Given the description of an element on the screen output the (x, y) to click on. 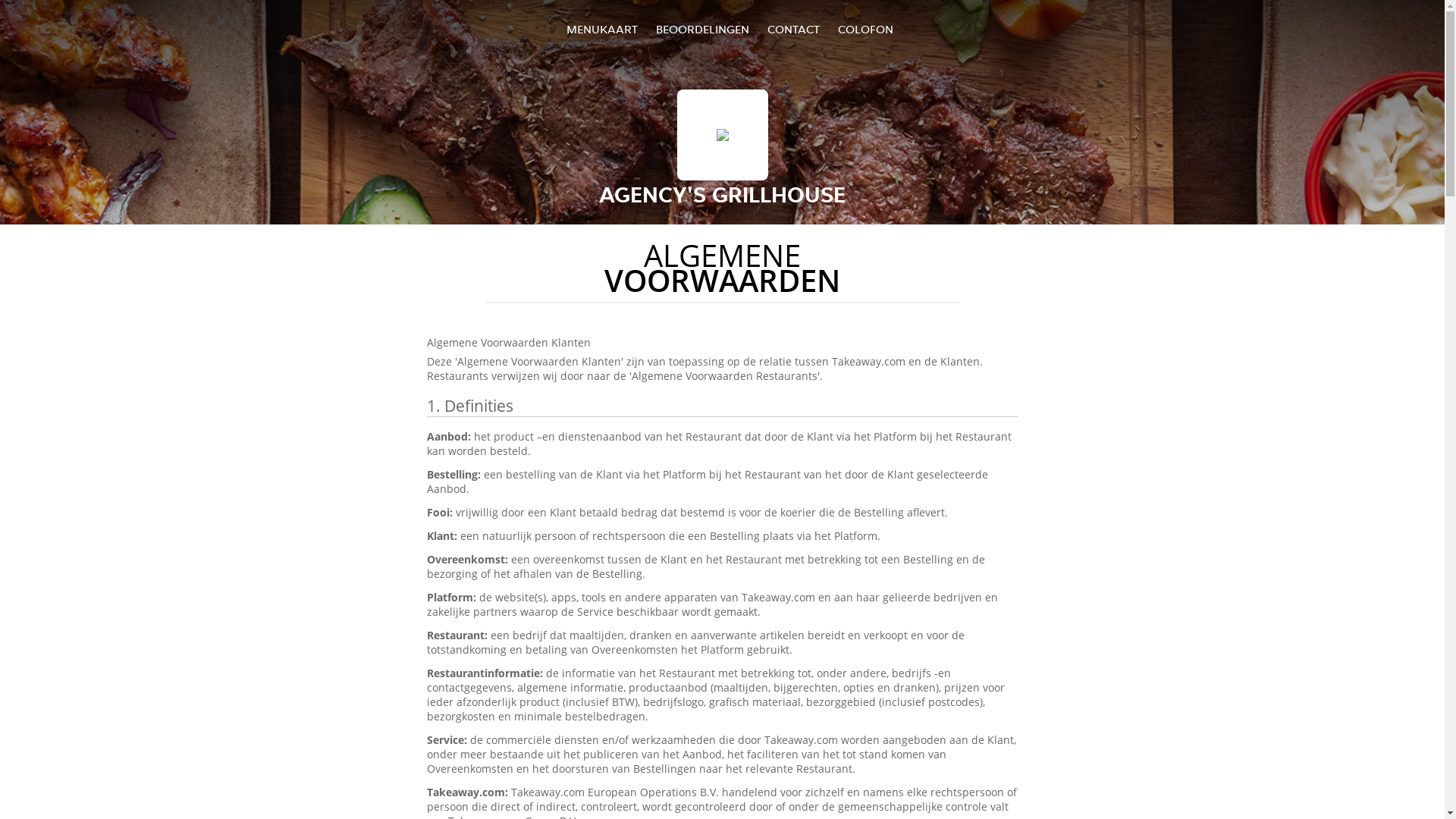
BEOORDELINGEN Element type: text (702, 29)
MENUKAART Element type: text (601, 29)
CONTACT Element type: text (793, 29)
COLOFON Element type: text (865, 29)
